Given the description of an element on the screen output the (x, y) to click on. 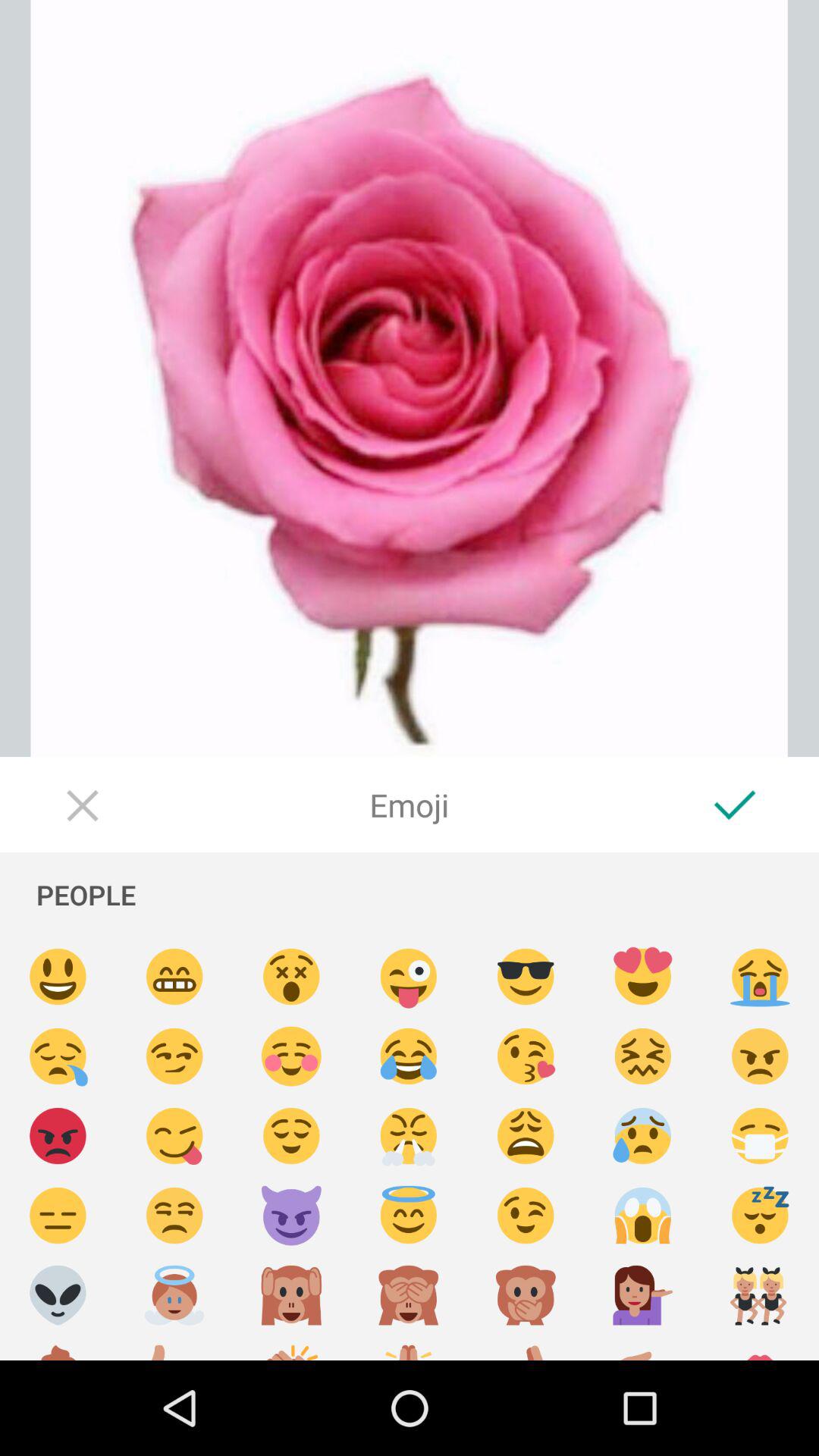
emoji (58, 976)
